Given the description of an element on the screen output the (x, y) to click on. 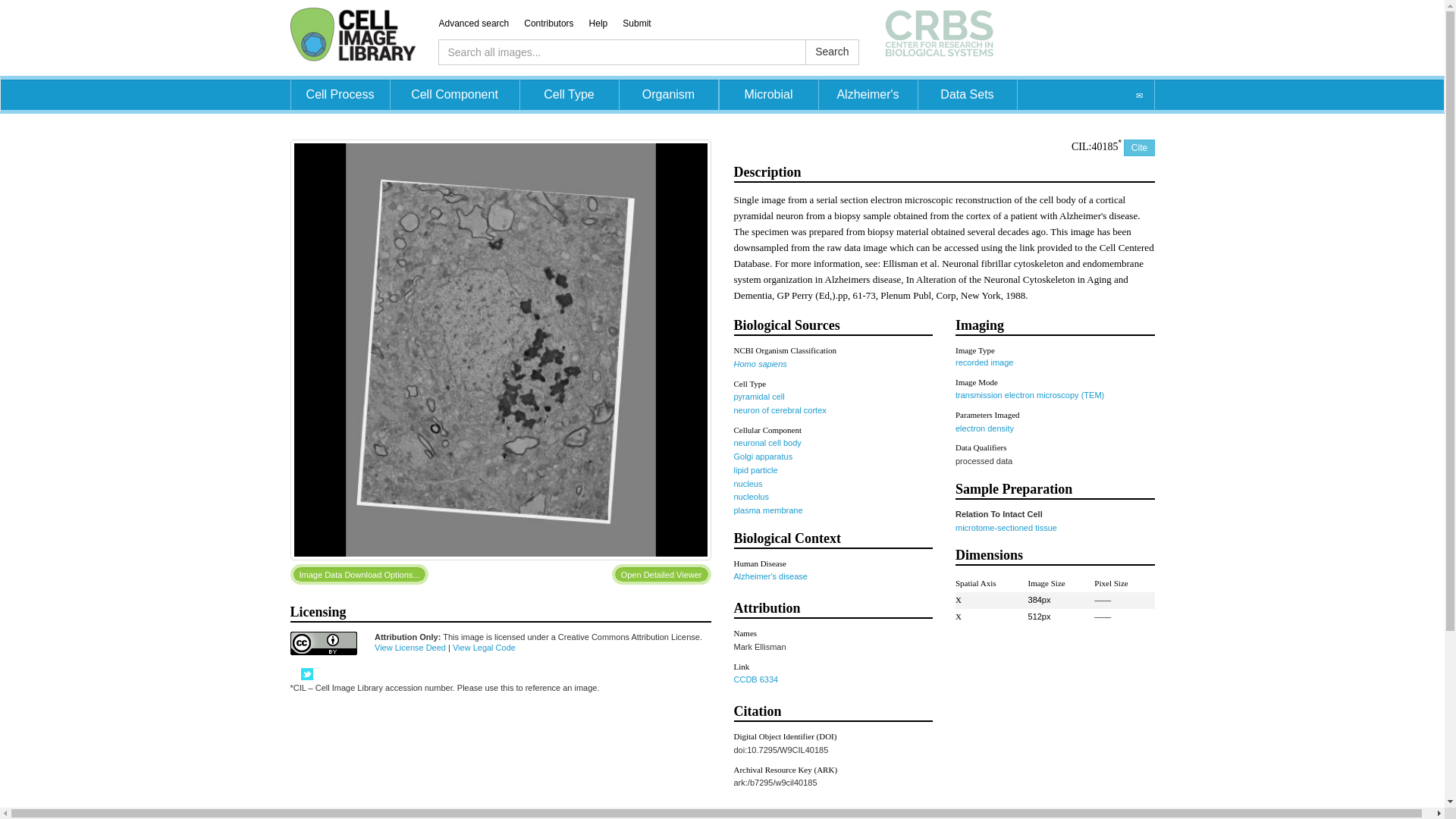
nucleolus (750, 496)
View License Deed (409, 646)
Homo sapiens (760, 363)
View Legal Code (483, 646)
neuronal cell body (767, 442)
Advanced search (481, 23)
Submit (644, 23)
Cell Component (454, 94)
Alzheimer's disease (770, 575)
nucleus (747, 483)
